Given the description of an element on the screen output the (x, y) to click on. 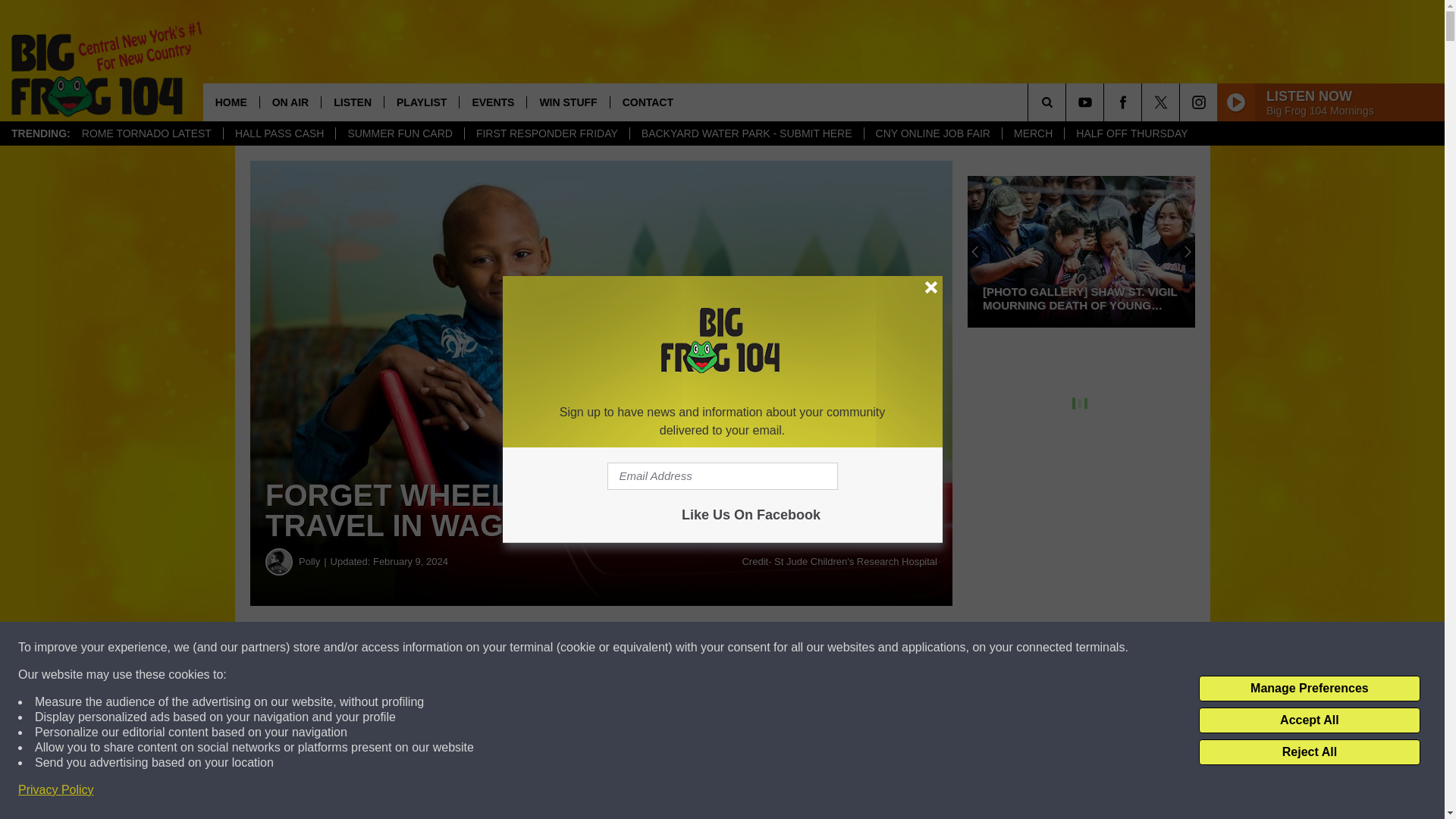
FIRST RESPONDER FRIDAY (546, 133)
CNY ONLINE JOB FAIR (932, 133)
Accept All (1309, 720)
Reject All (1309, 751)
PLAYLIST (421, 102)
SEARCH (1068, 102)
ROME TORNADO LATEST (145, 133)
ON AIR (289, 102)
HALF OFF THURSDAY (1131, 133)
Share on Facebook (460, 647)
EVENTS (491, 102)
WIN STUFF (566, 102)
Manage Preferences (1309, 688)
LISTEN (352, 102)
CONTACT (647, 102)
